Given the description of an element on the screen output the (x, y) to click on. 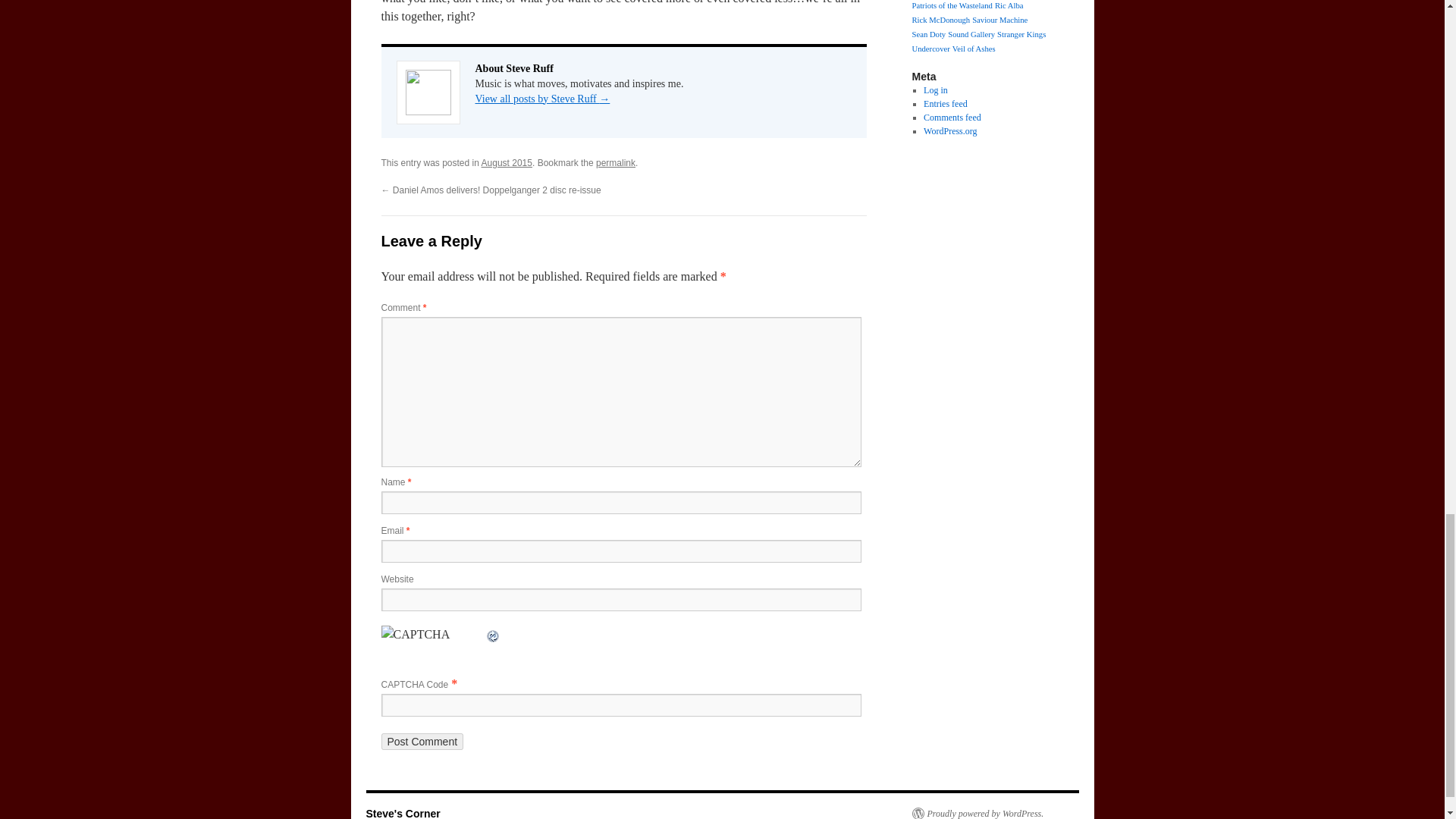
Post Comment (421, 741)
August 2015 (506, 163)
Post Comment (421, 741)
CAPTCHA (432, 642)
Refresh (493, 634)
permalink (614, 163)
